Given the description of an element on the screen output the (x, y) to click on. 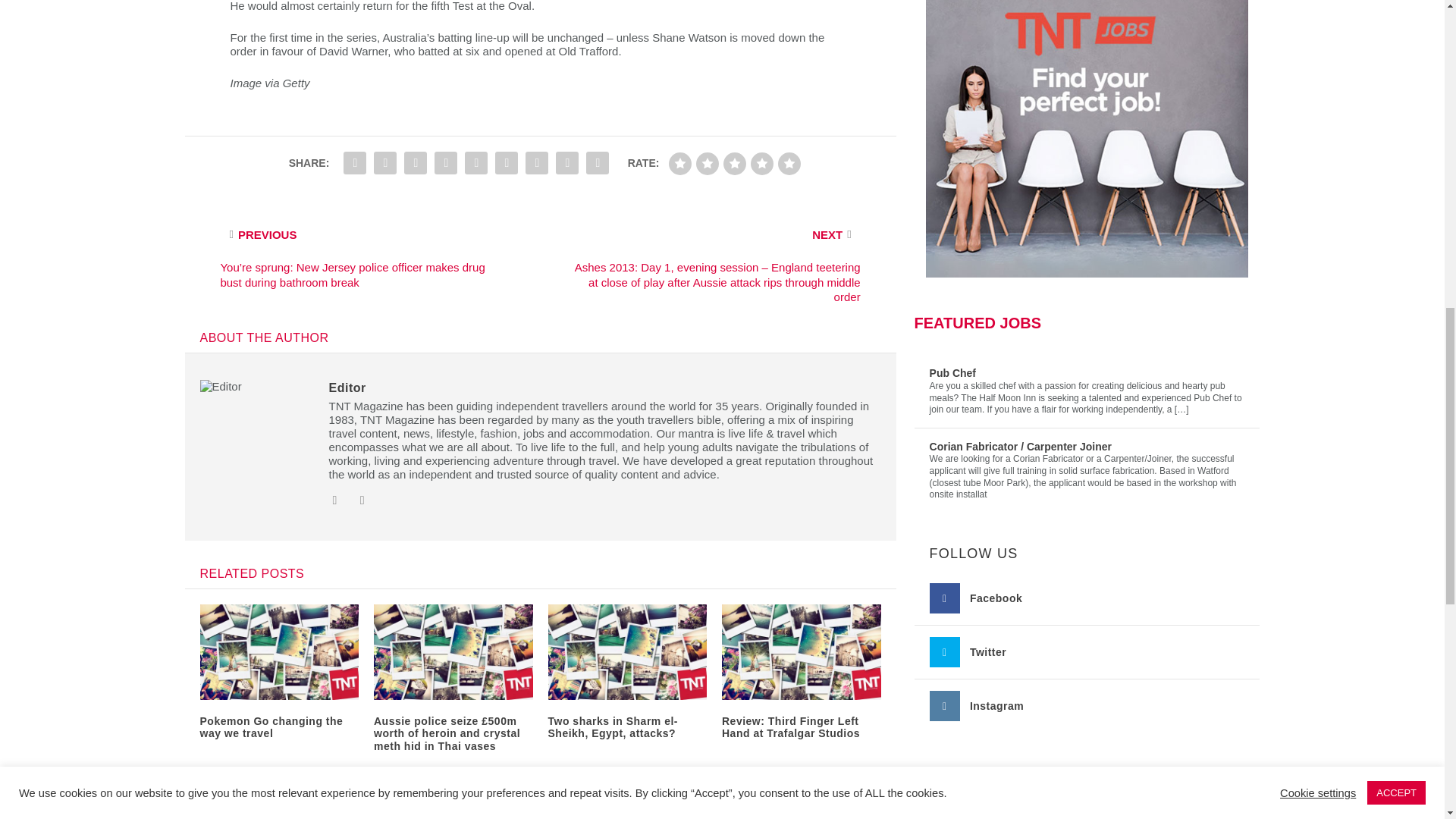
Editor (347, 387)
